Given the description of an element on the screen output the (x, y) to click on. 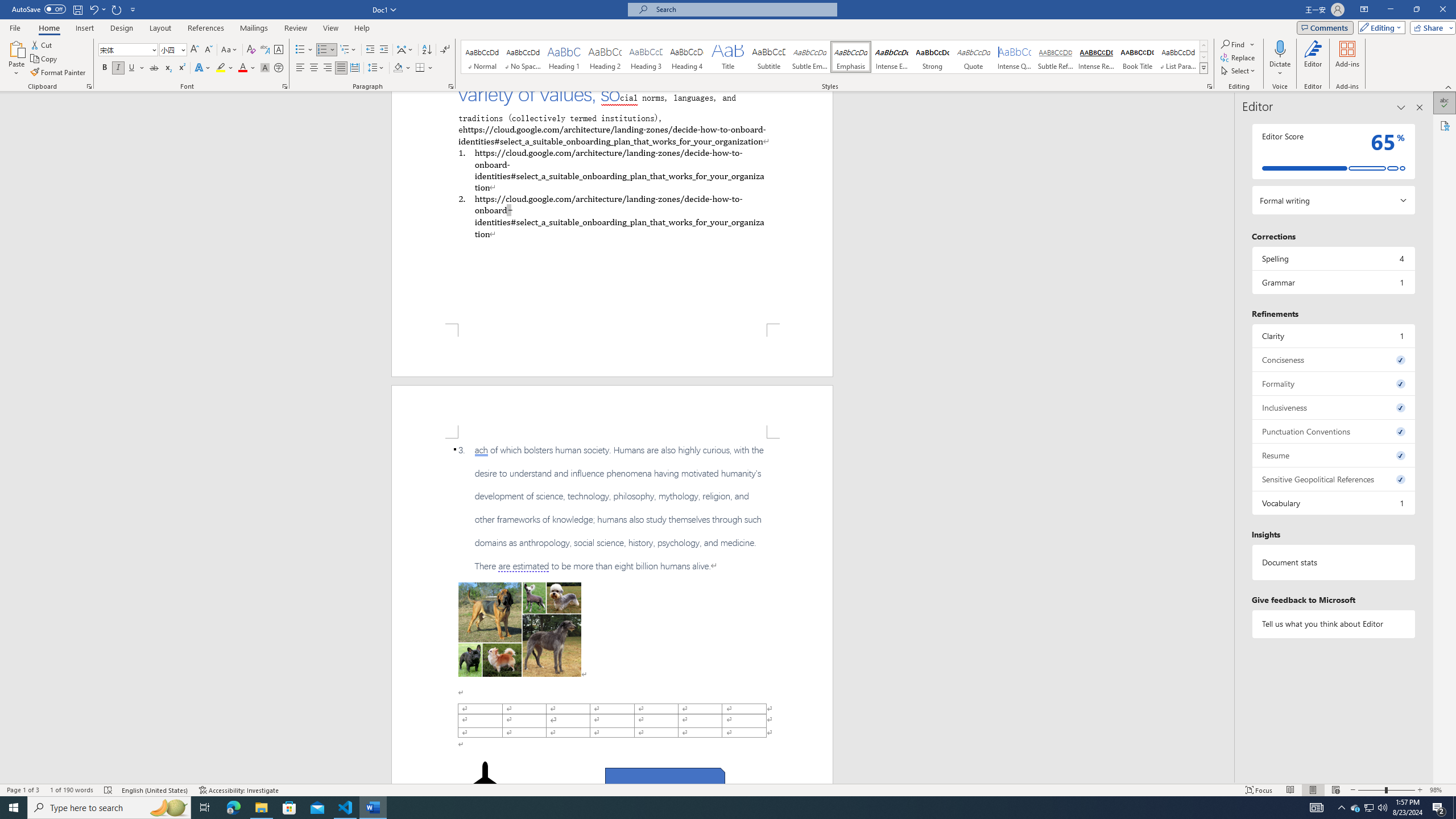
Accessibility (1444, 125)
Emphasis (849, 56)
Page Number Page 1 of 3 (22, 790)
2. (611, 216)
